Given the description of an element on the screen output the (x, y) to click on. 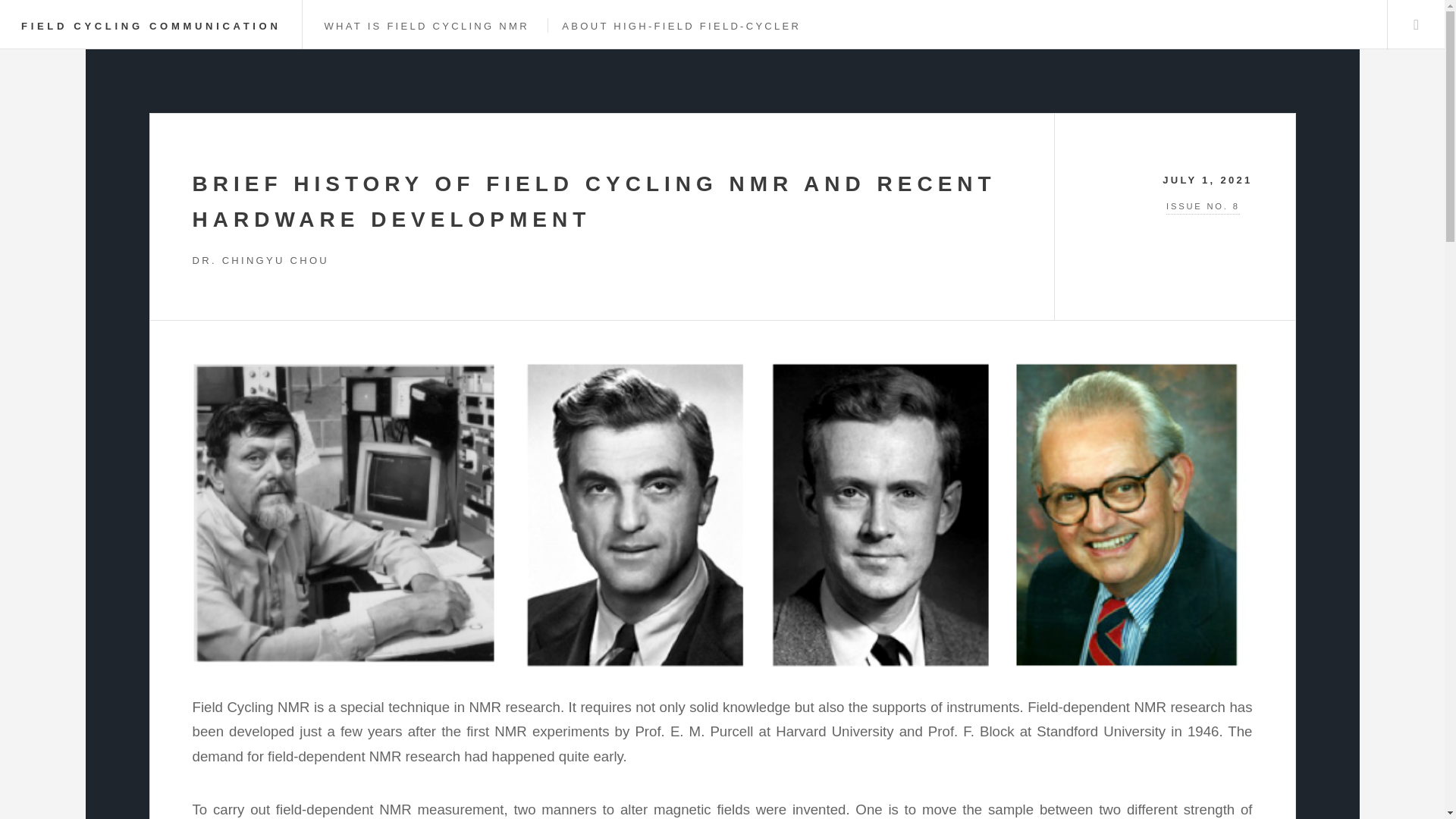
ISSUE NO. 8 (1174, 207)
ABOUT HIGH-FIELD FIELD-CYCLER (681, 25)
WHAT IS FIELD CYCLING NMR (425, 25)
FIELD CYCLING COMMUNICATION (151, 25)
